Given the description of an element on the screen output the (x, y) to click on. 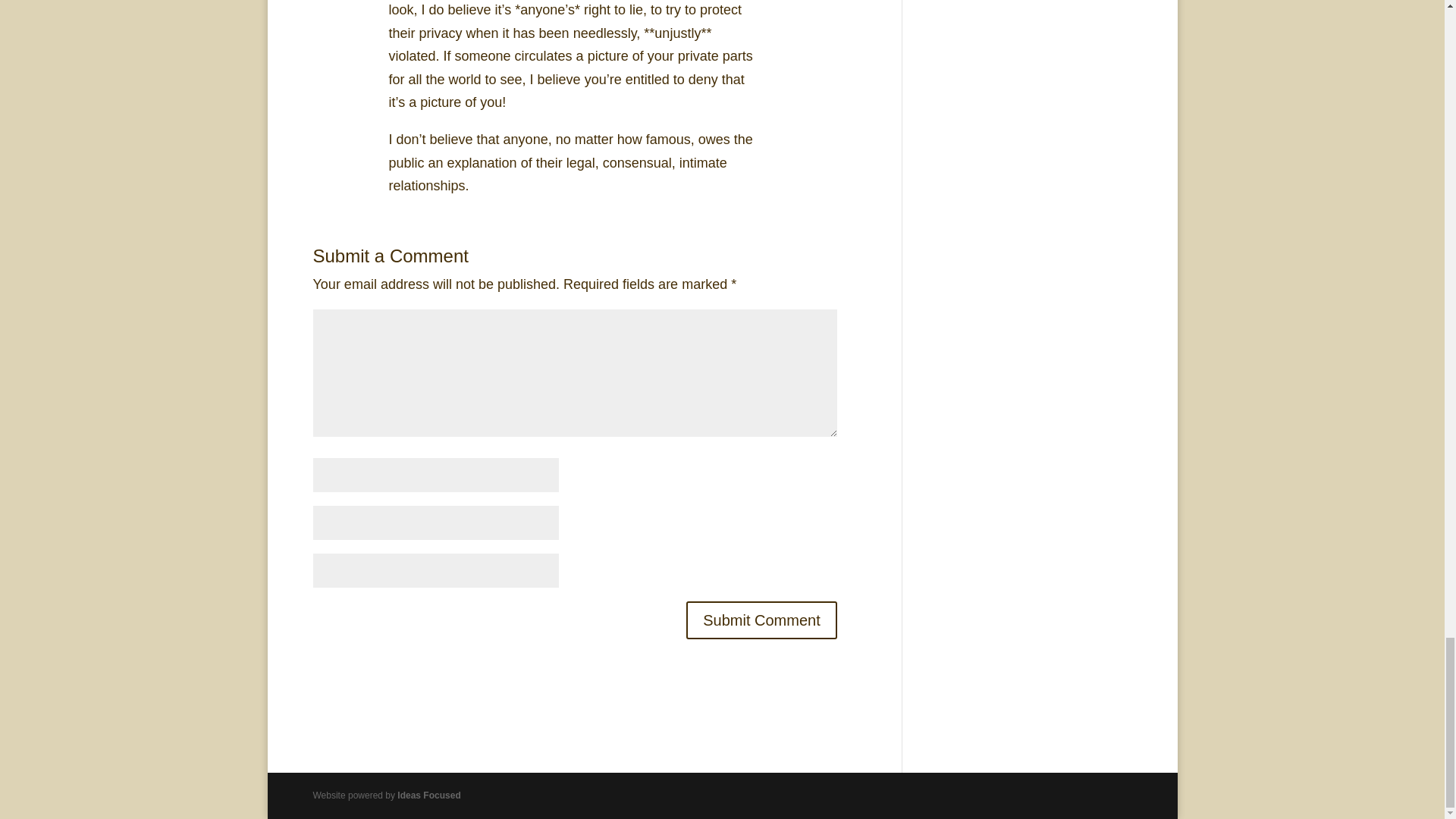
Submit Comment (761, 620)
